Given the description of an element on the screen output the (x, y) to click on. 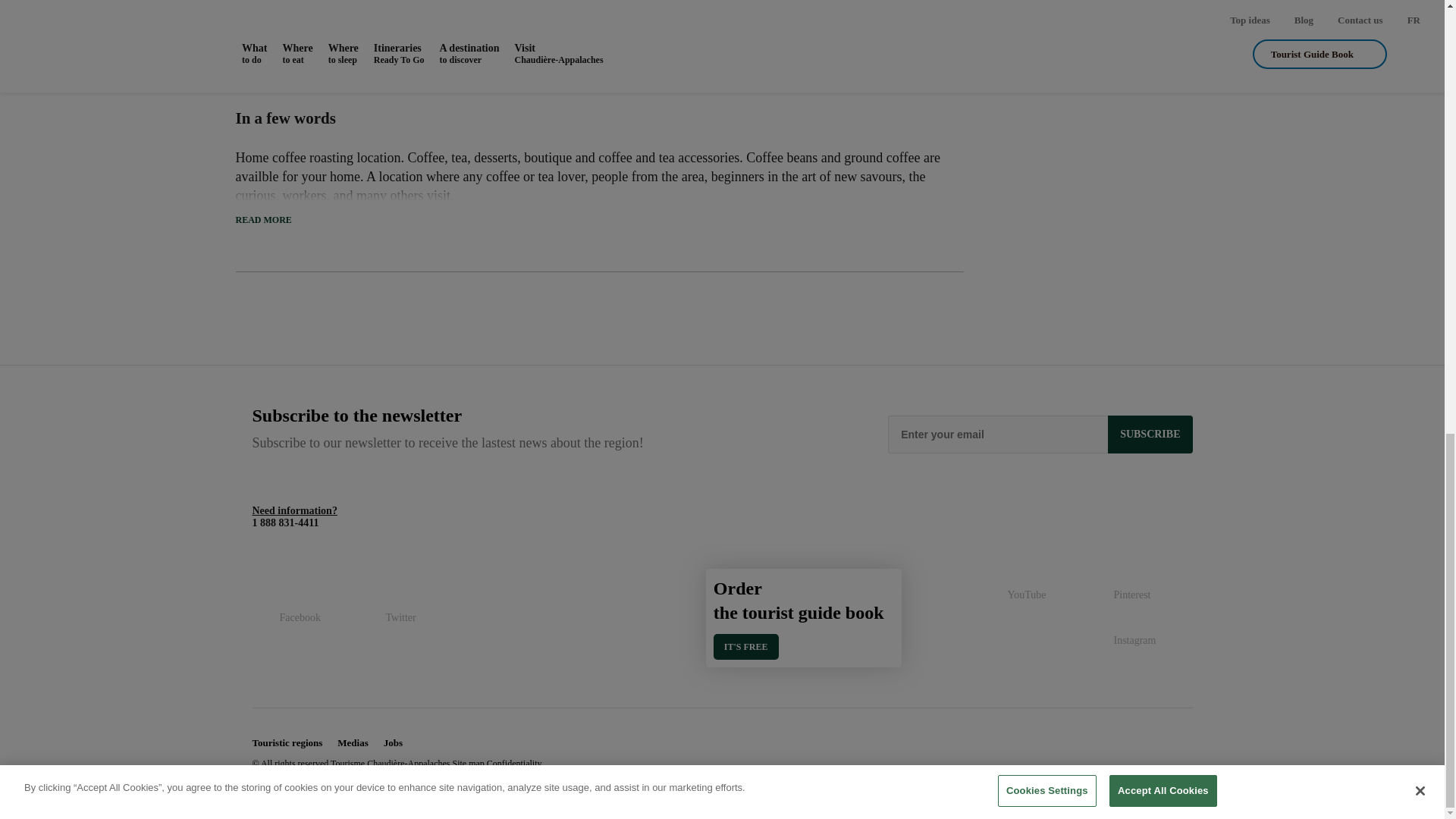
Subscribe (1150, 434)
